Given the description of an element on the screen output the (x, y) to click on. 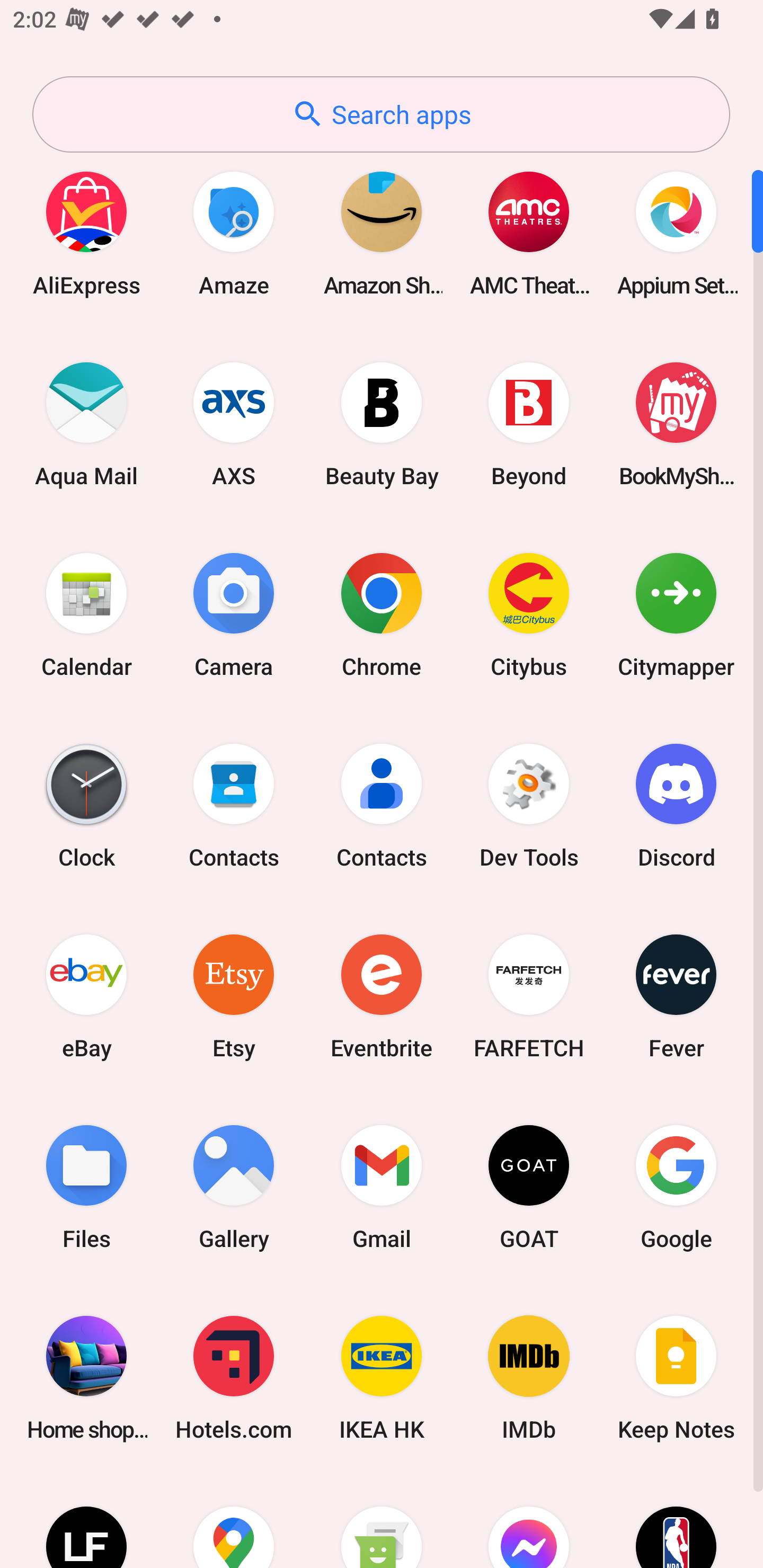
Citymapper (676, 614)
